Given the description of an element on the screen output the (x, y) to click on. 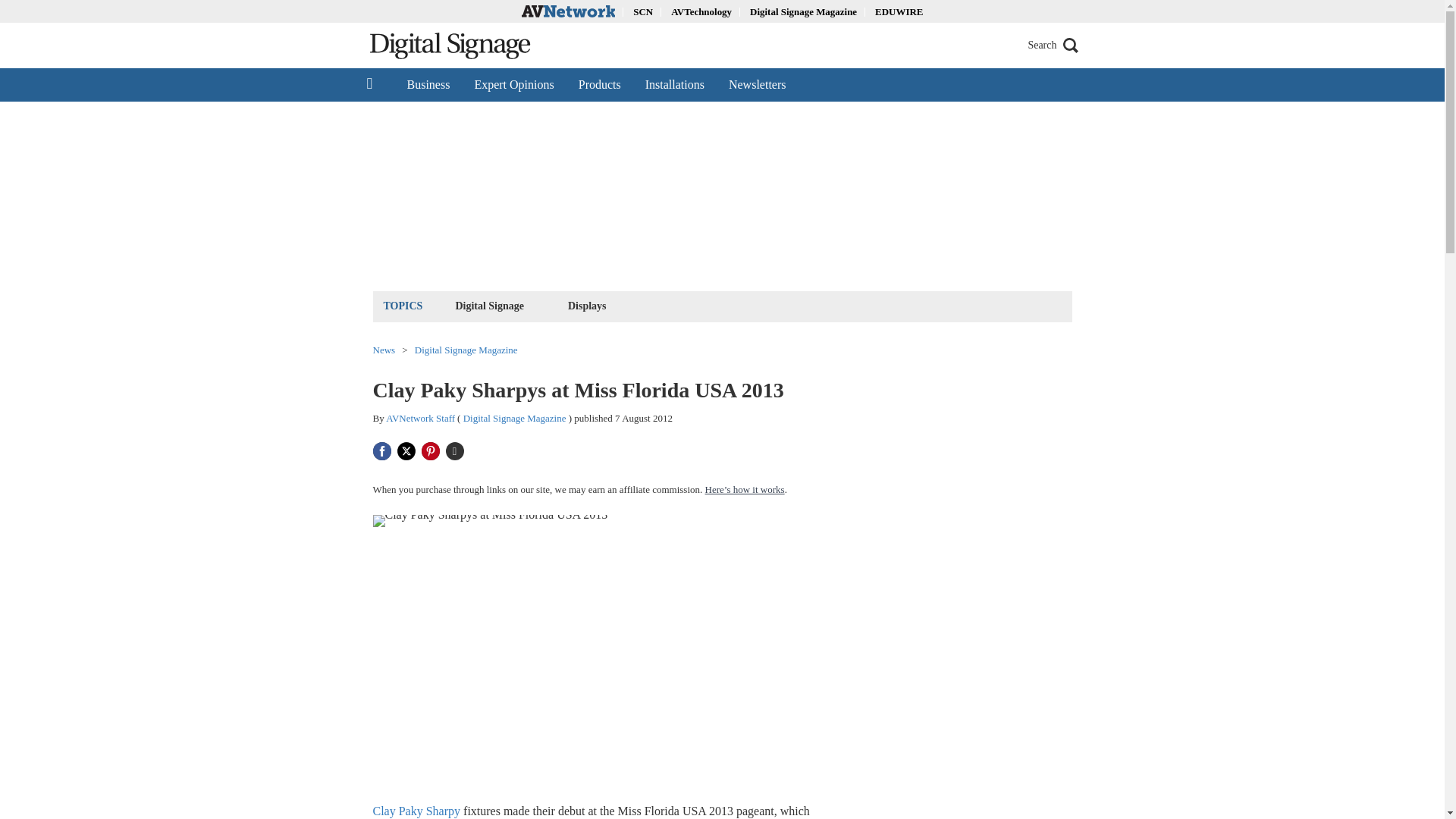
EDUWIRE (899, 11)
AVTechnology (701, 11)
Digital Signage Magazine (514, 418)
Displays (586, 305)
SCN (642, 11)
Clay Paky Sharpy (416, 810)
Installations (674, 84)
Digital Signage Magazine (803, 11)
Products (599, 84)
Digital Signage (489, 305)
